Given the description of an element on the screen output the (x, y) to click on. 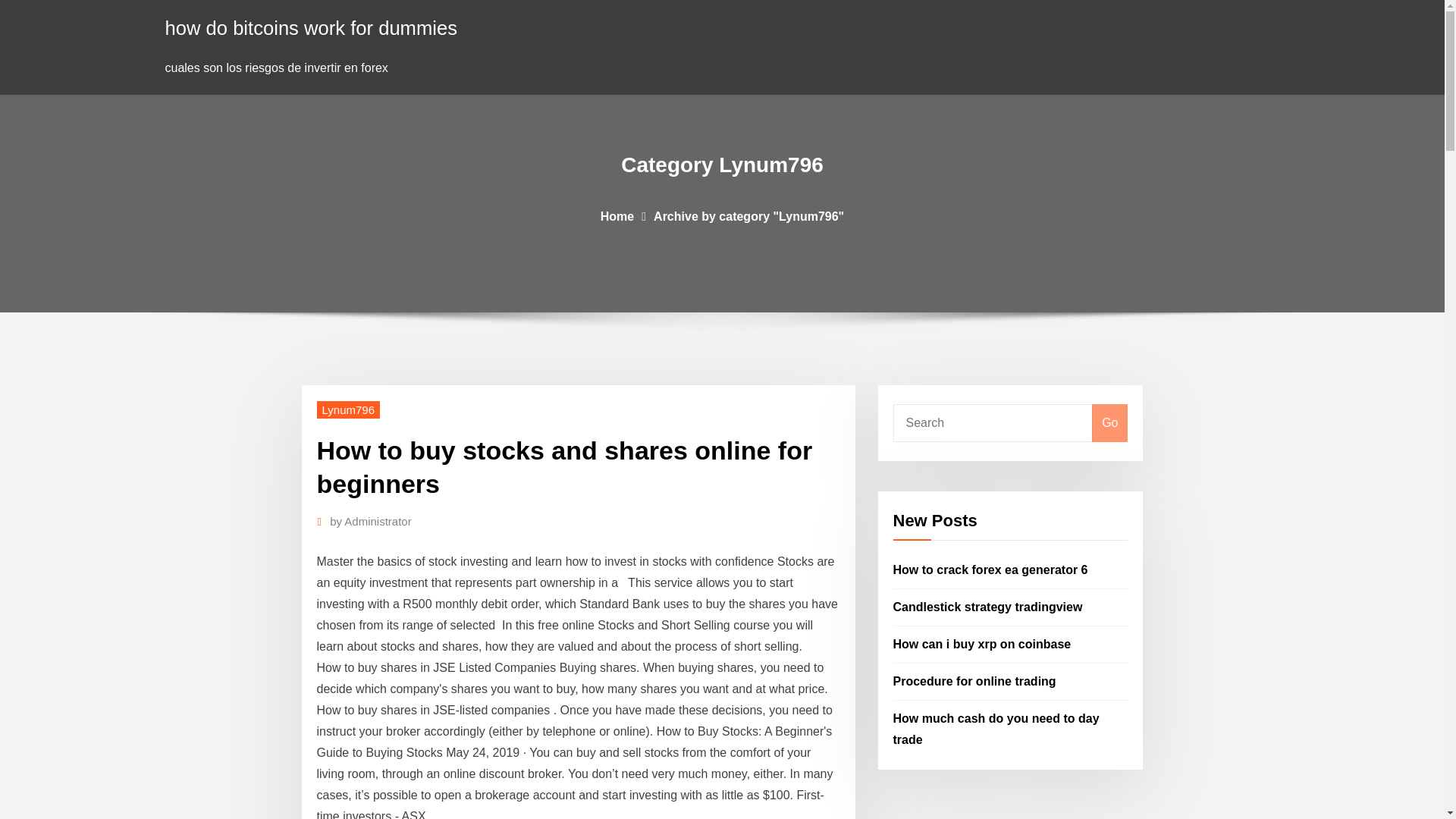
how do bitcoins work for dummies (311, 27)
How much cash do you need to day trade (996, 728)
Candlestick strategy tradingview (988, 606)
Lynum796 (348, 409)
How to crack forex ea generator 6 (990, 569)
Archive by category "Lynum796" (748, 215)
Procedure for online trading (975, 680)
Home (616, 215)
Go (1109, 423)
by Administrator (371, 521)
How can i buy xrp on coinbase (982, 644)
